Given the description of an element on the screen output the (x, y) to click on. 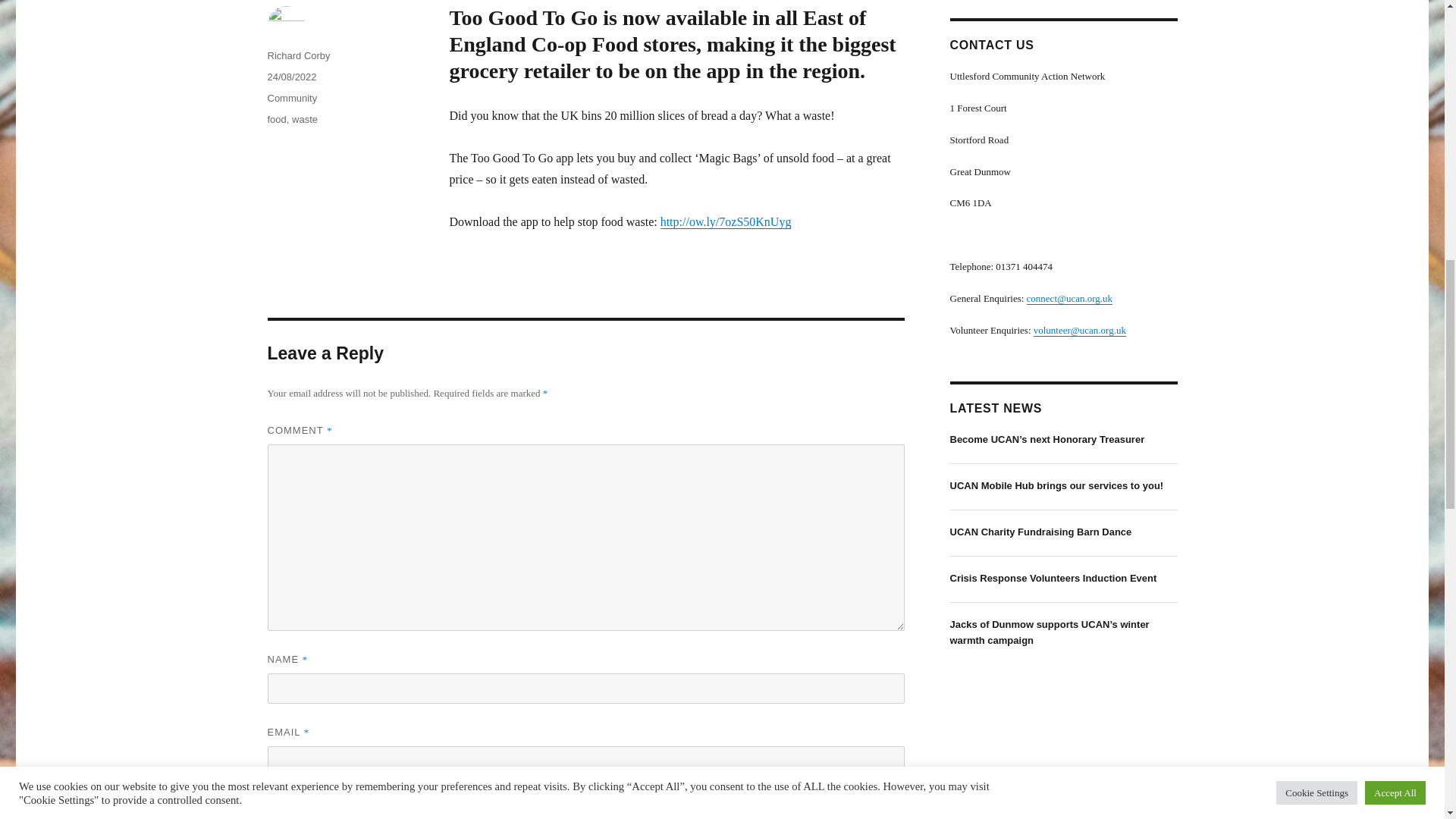
food (275, 119)
waste (304, 119)
Community (291, 98)
Richard Corby (298, 55)
